Given the description of an element on the screen output the (x, y) to click on. 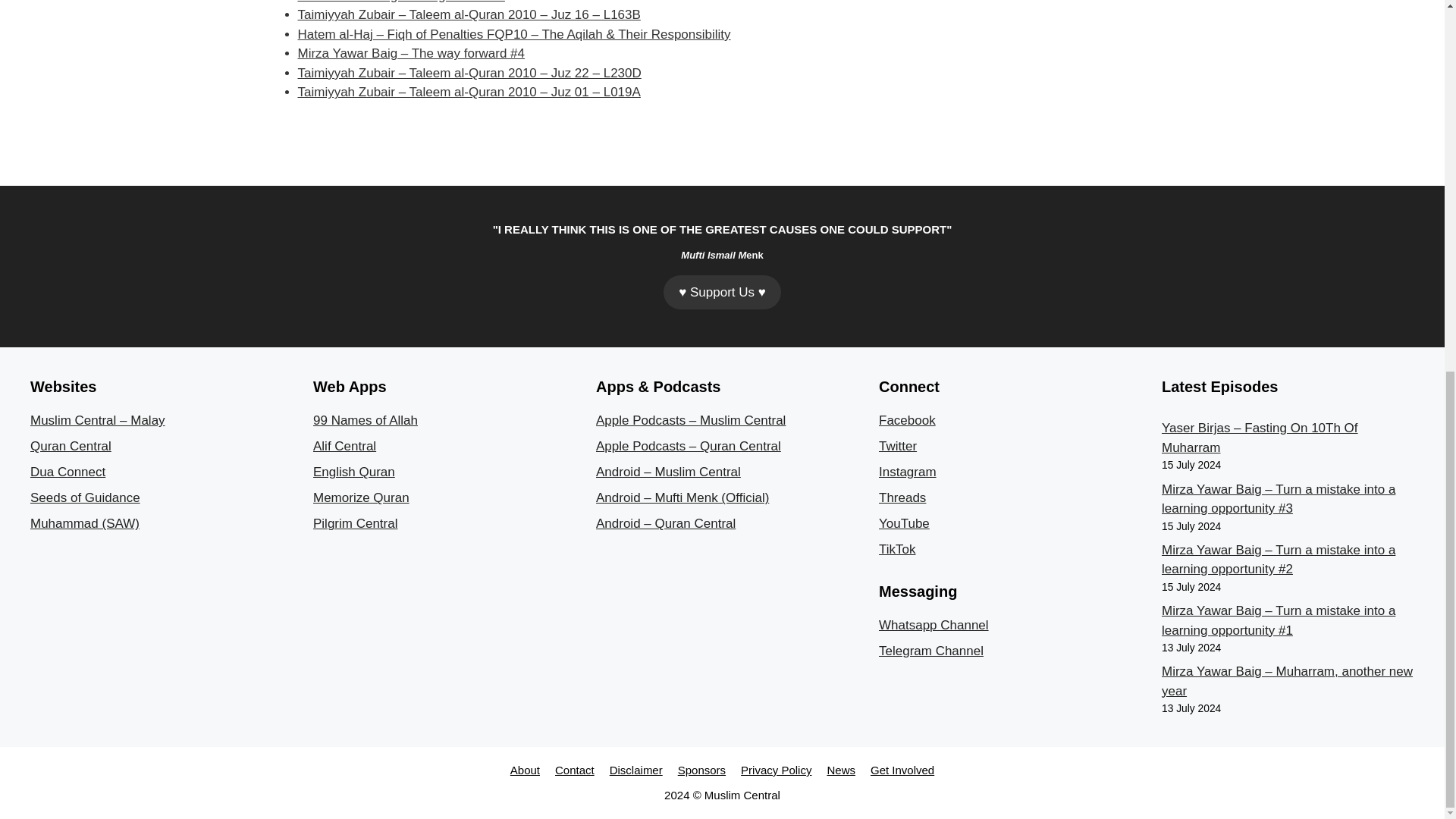
99 Names of Allah (365, 420)
Seeds of Guidance (84, 497)
Memorize Quran (361, 497)
Quran Central (71, 445)
English Quran (353, 472)
Dua Connect (67, 472)
Alif Central (344, 445)
